Given the description of an element on the screen output the (x, y) to click on. 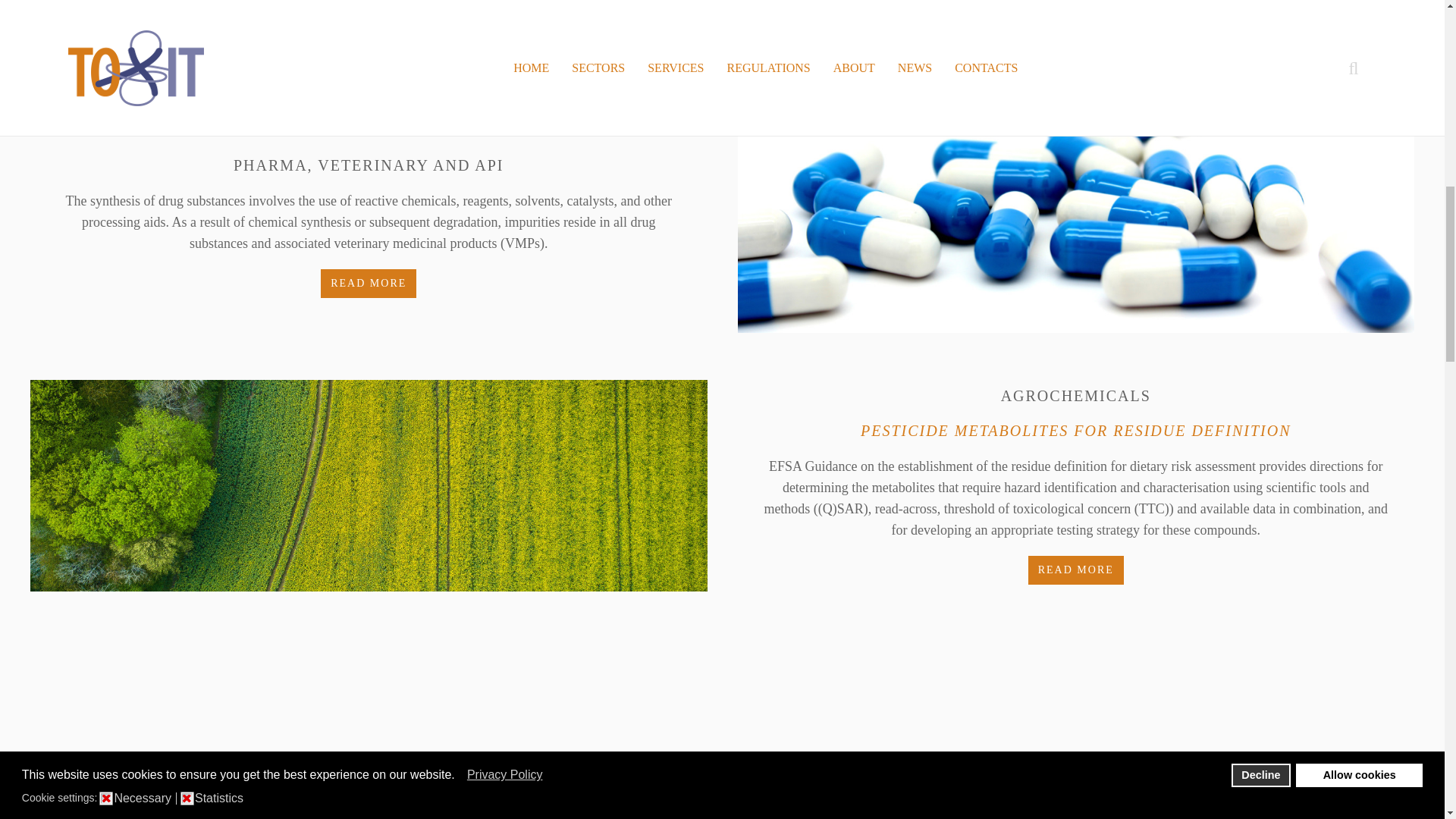
AGROCHEMICALS (1076, 395)
READ MORE (368, 283)
READ MORE (1075, 39)
PHARMA, VETERINARY AND API (367, 165)
READ MORE (1075, 570)
